Given the description of an element on the screen output the (x, y) to click on. 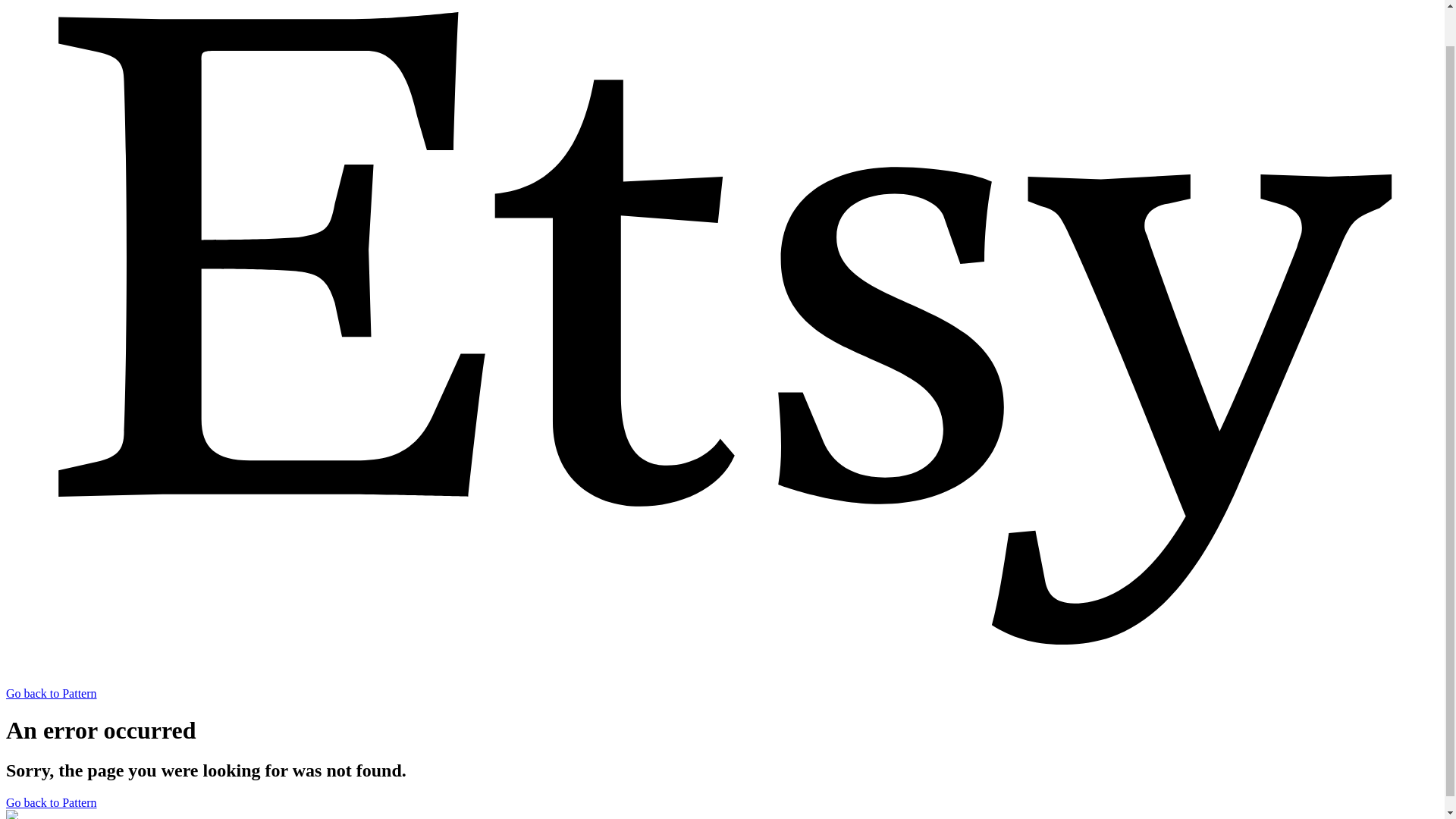
Go back to Pattern (51, 802)
